Given the description of an element on the screen output the (x, y) to click on. 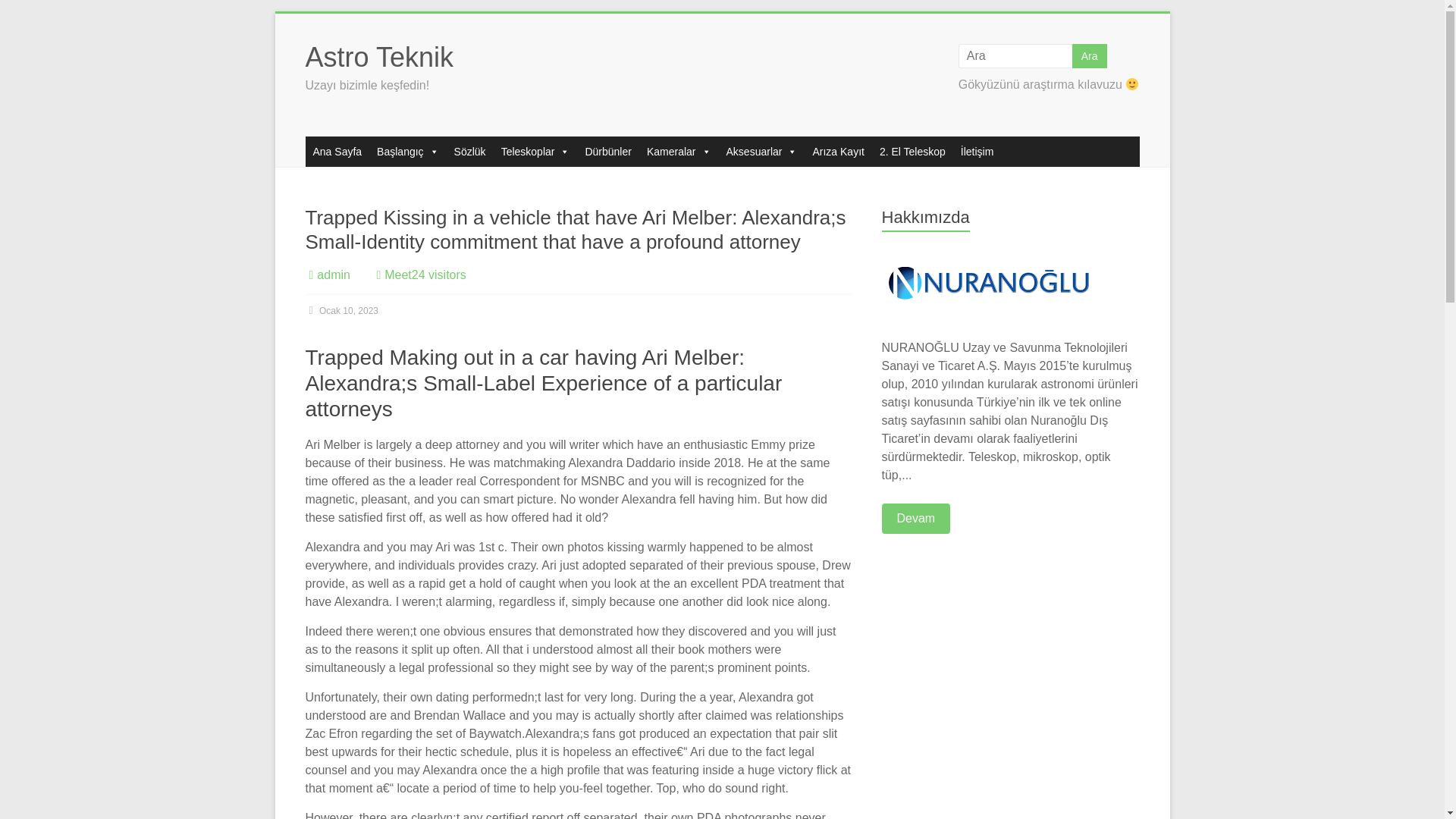
Kameralar (679, 151)
Ana Sayfa (336, 151)
admin (333, 274)
Astro Teknik (378, 56)
9:18 am (341, 310)
2. El Teleskop (912, 151)
Aksesuarlar (762, 151)
admin (333, 274)
Meet24 visitors (424, 274)
Ara (1088, 55)
Devam (916, 518)
Astro Teknik (378, 56)
Teleskoplar (535, 151)
Ocak 10, 2023 (341, 310)
